Given the description of an element on the screen output the (x, y) to click on. 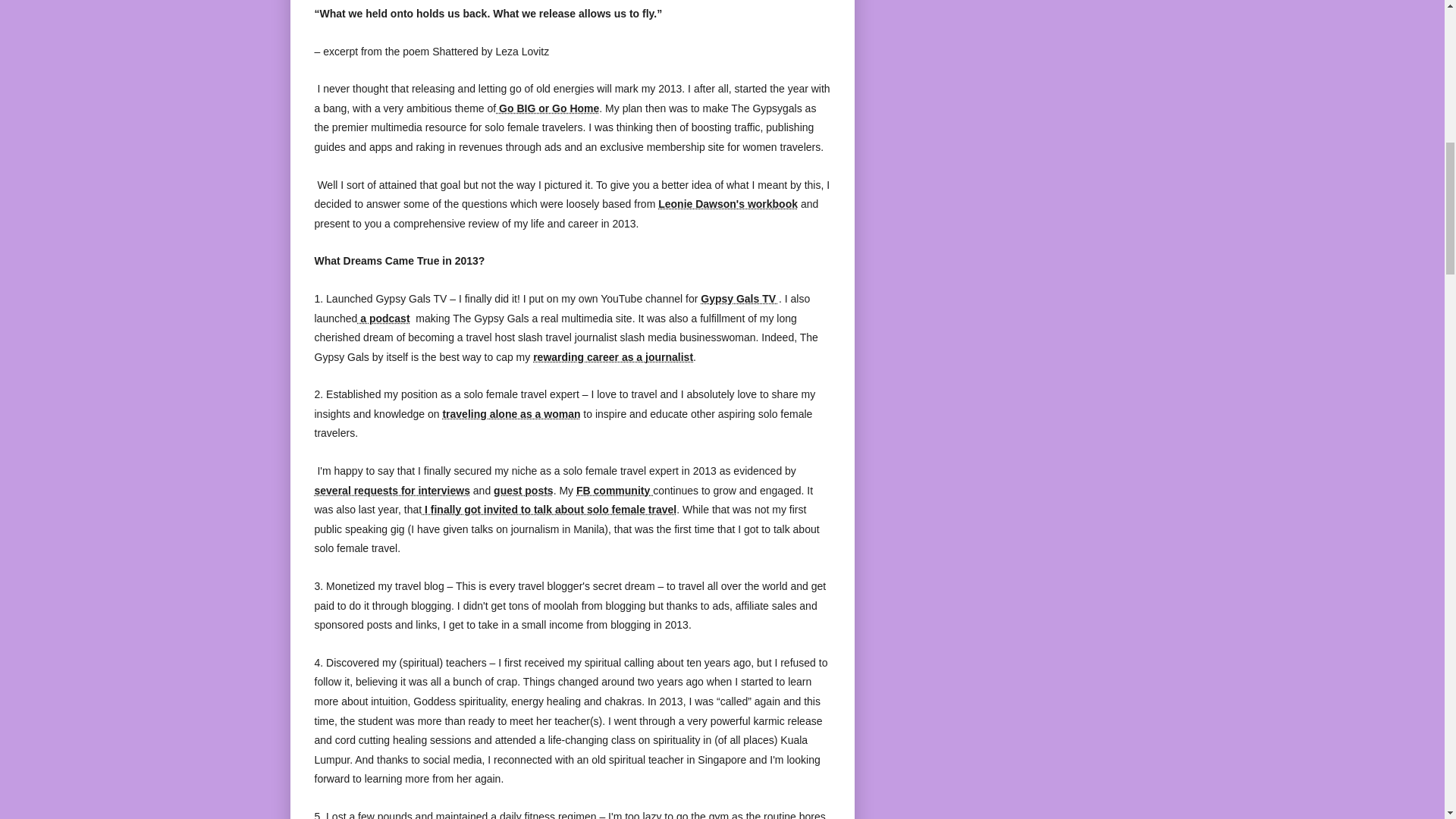
Go BIG or Go Home (547, 108)
traveling alone as a woman (510, 413)
a podcast (382, 318)
I finally got invited to talk about solo female travel (549, 509)
several requests for interviews (391, 490)
rewarding career as a journalist (612, 357)
guest posts (523, 490)
Leonie Dawson's workbook (727, 203)
Gypsy Gals TV (739, 298)
FB community (614, 490)
